Given the description of an element on the screen output the (x, y) to click on. 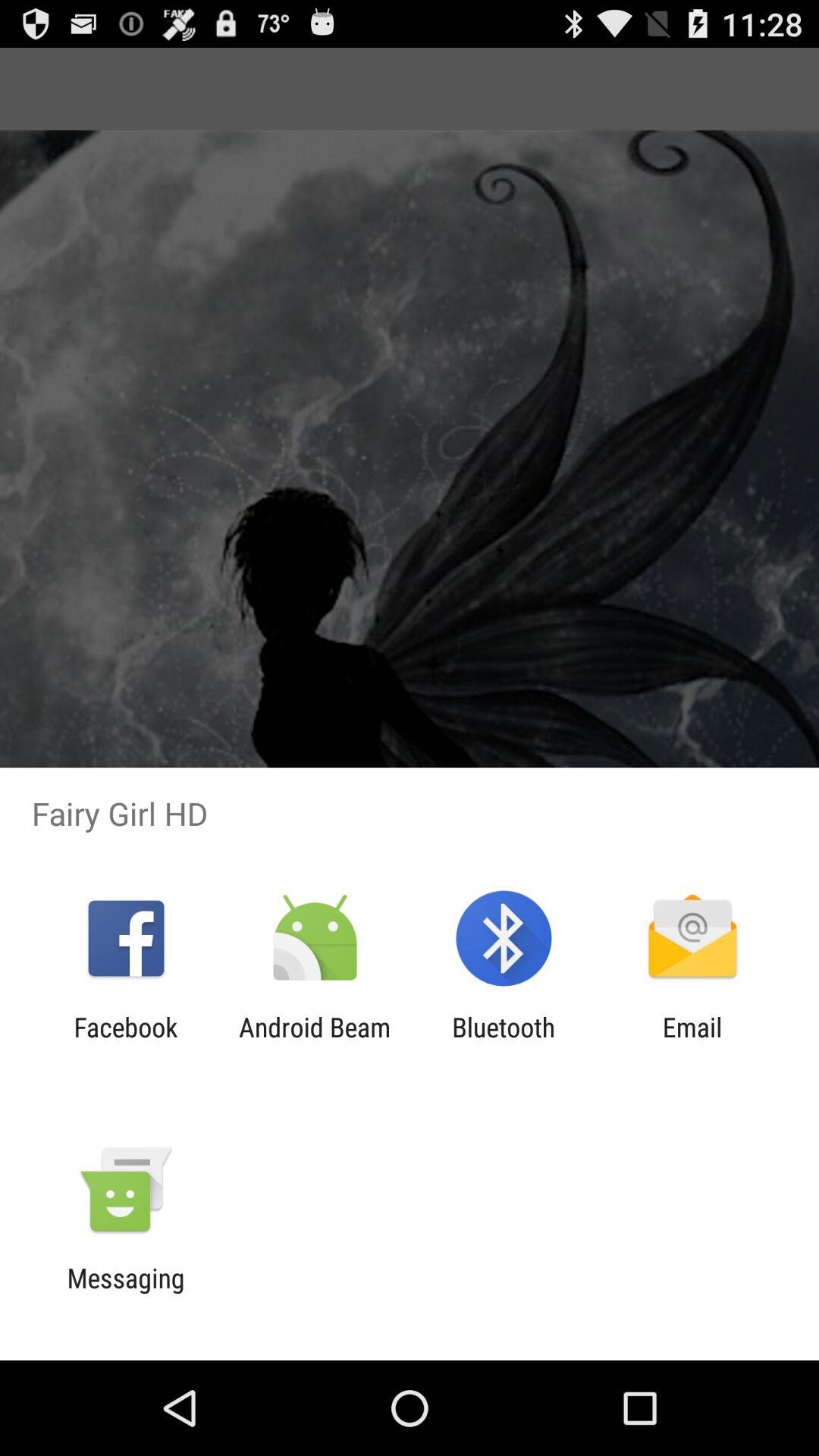
press the icon next to facebook item (314, 1042)
